Given the description of an element on the screen output the (x, y) to click on. 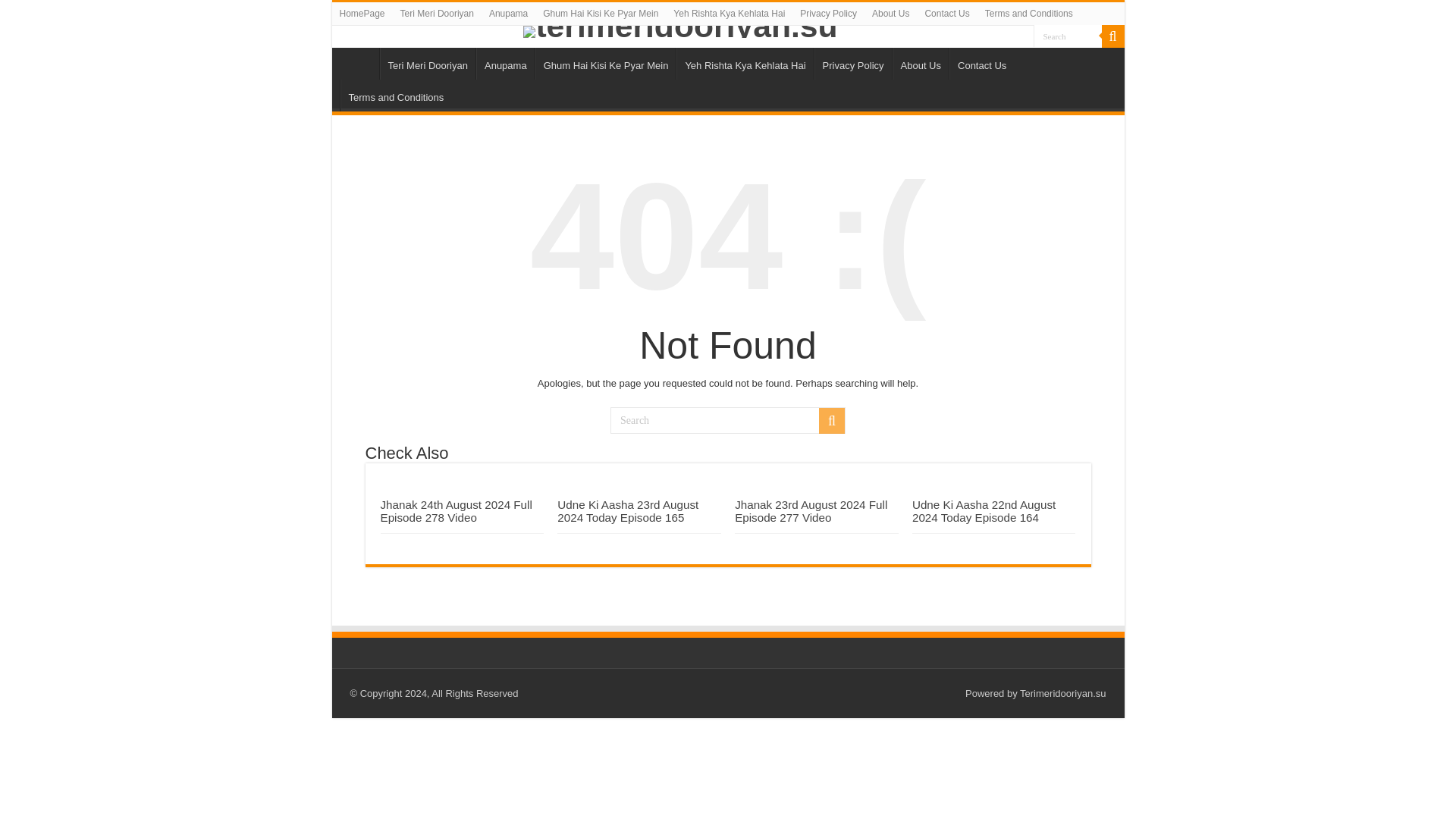
Teri Meri Dooriyan (437, 13)
Jhanak 23rd August 2024 Full Episode 277 Video (810, 510)
terimeridooriyan.su (727, 31)
Contact Us (946, 13)
HomePage (358, 63)
Terimeridooriyan.su (1062, 693)
Search (1066, 35)
Terms and Conditions (395, 95)
Search (1066, 35)
Privacy Policy (852, 63)
